Given the description of an element on the screen output the (x, y) to click on. 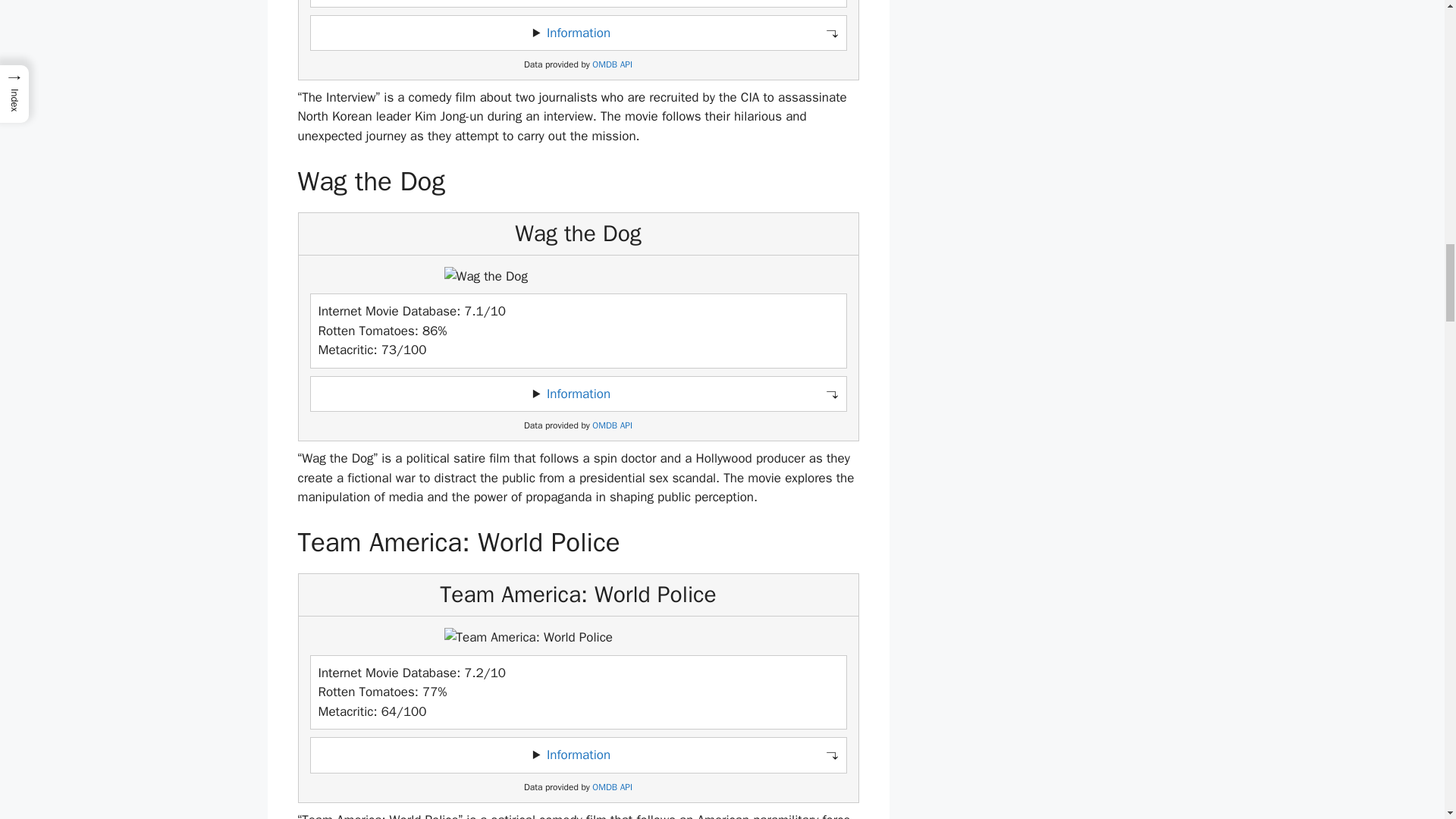
Information (578, 393)
OMDB API (611, 787)
OMDB API (611, 425)
Information (578, 32)
OMDB API (611, 64)
Information (578, 754)
Toggle information (578, 393)
Toggle information (578, 32)
Open Movie Database API (611, 64)
Open Movie Database API (611, 425)
